Given the description of an element on the screen output the (x, y) to click on. 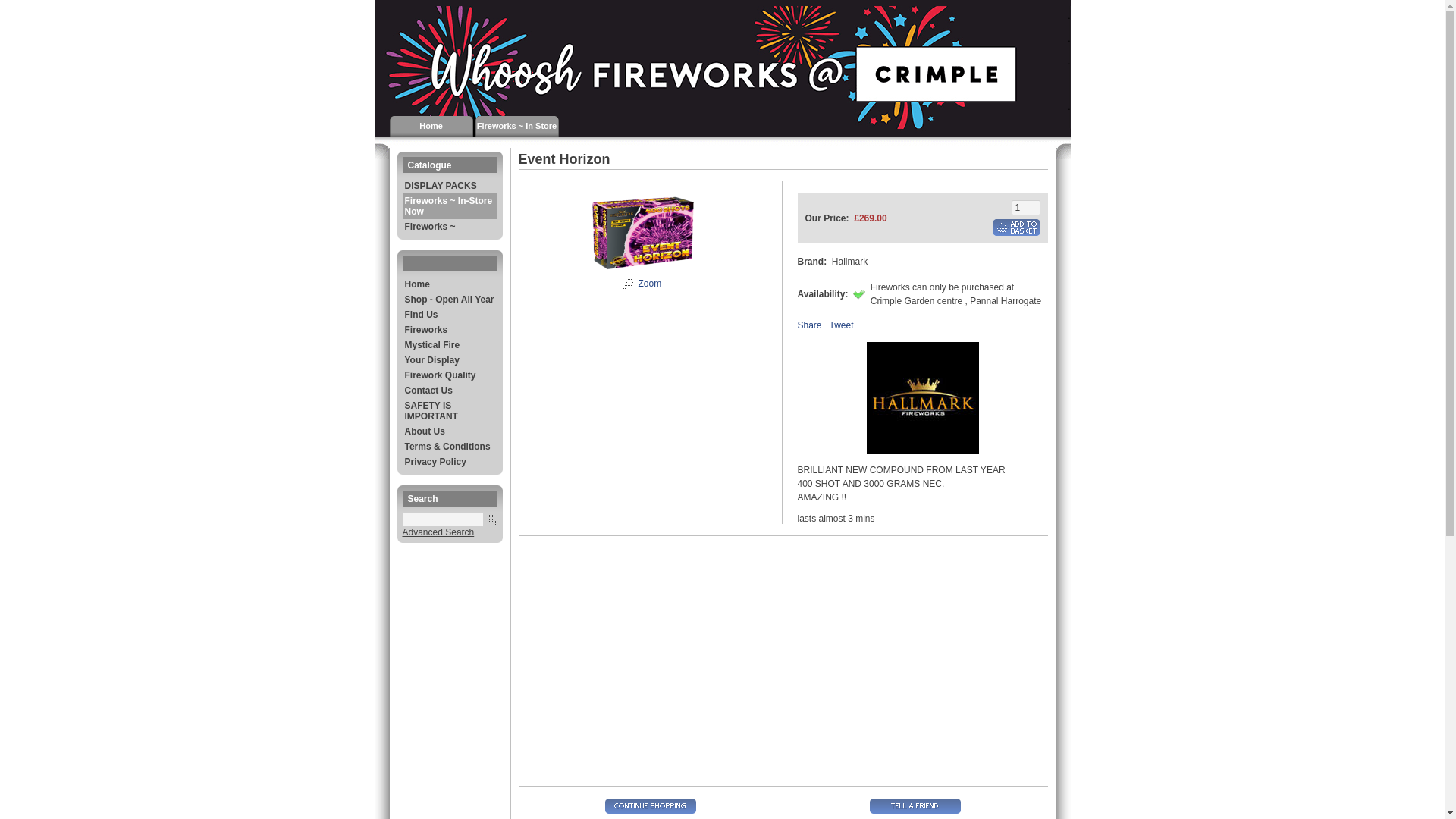
1 (1026, 207)
Contact Us (448, 390)
Back to main menu (430, 125)
Zoom (641, 232)
Firework Quality (448, 375)
Event Horizon (628, 285)
Home (448, 283)
Add to Basket (1015, 227)
YouTube video player (730, 655)
Share (809, 325)
Advanced Search (437, 532)
About Us (448, 431)
Tweet (841, 325)
Go (491, 519)
